Given the description of an element on the screen output the (x, y) to click on. 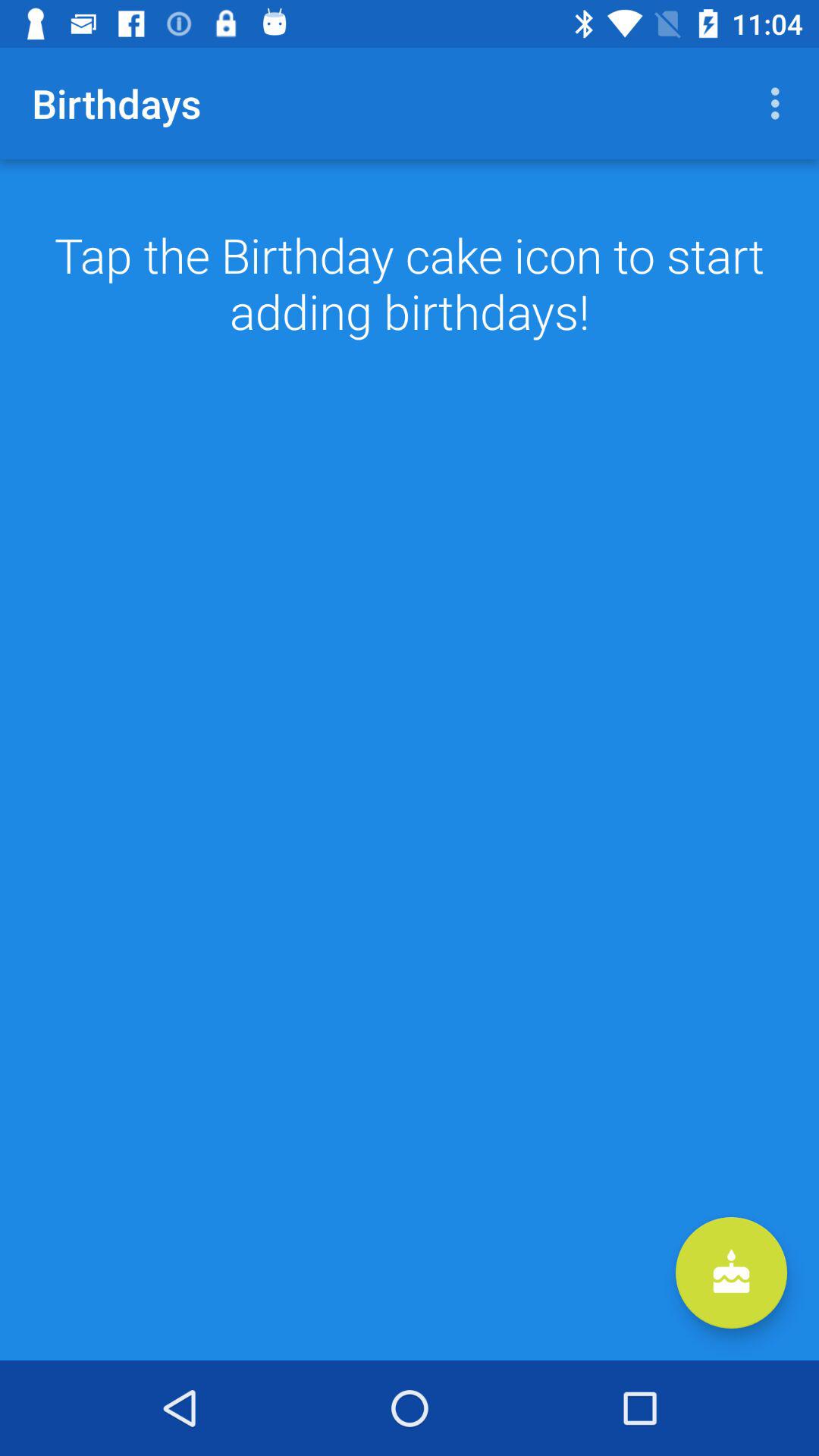
select the icon at the bottom right corner (731, 1272)
